Given the description of an element on the screen output the (x, y) to click on. 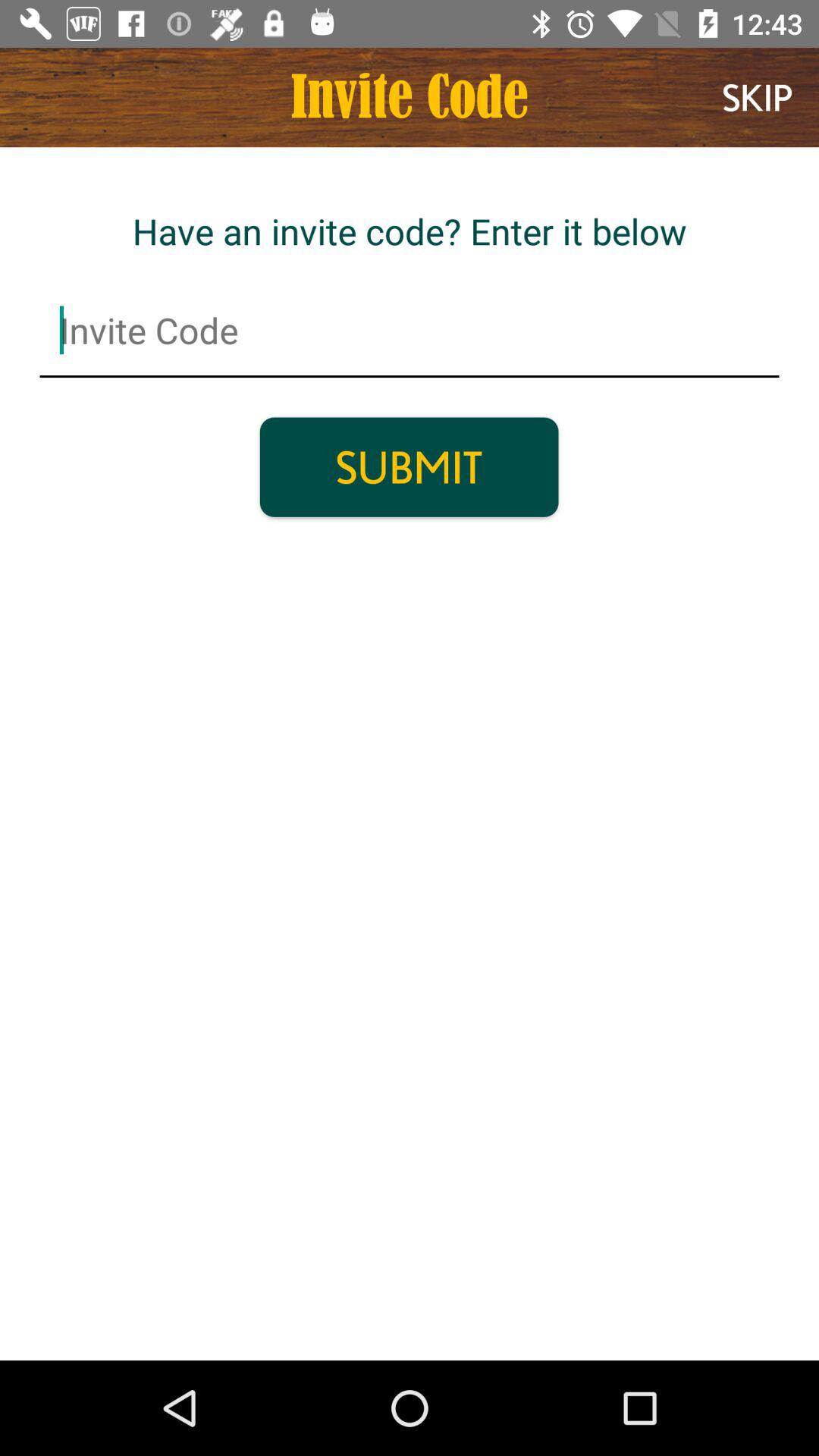
swipe until the skip item (757, 97)
